Given the description of an element on the screen output the (x, y) to click on. 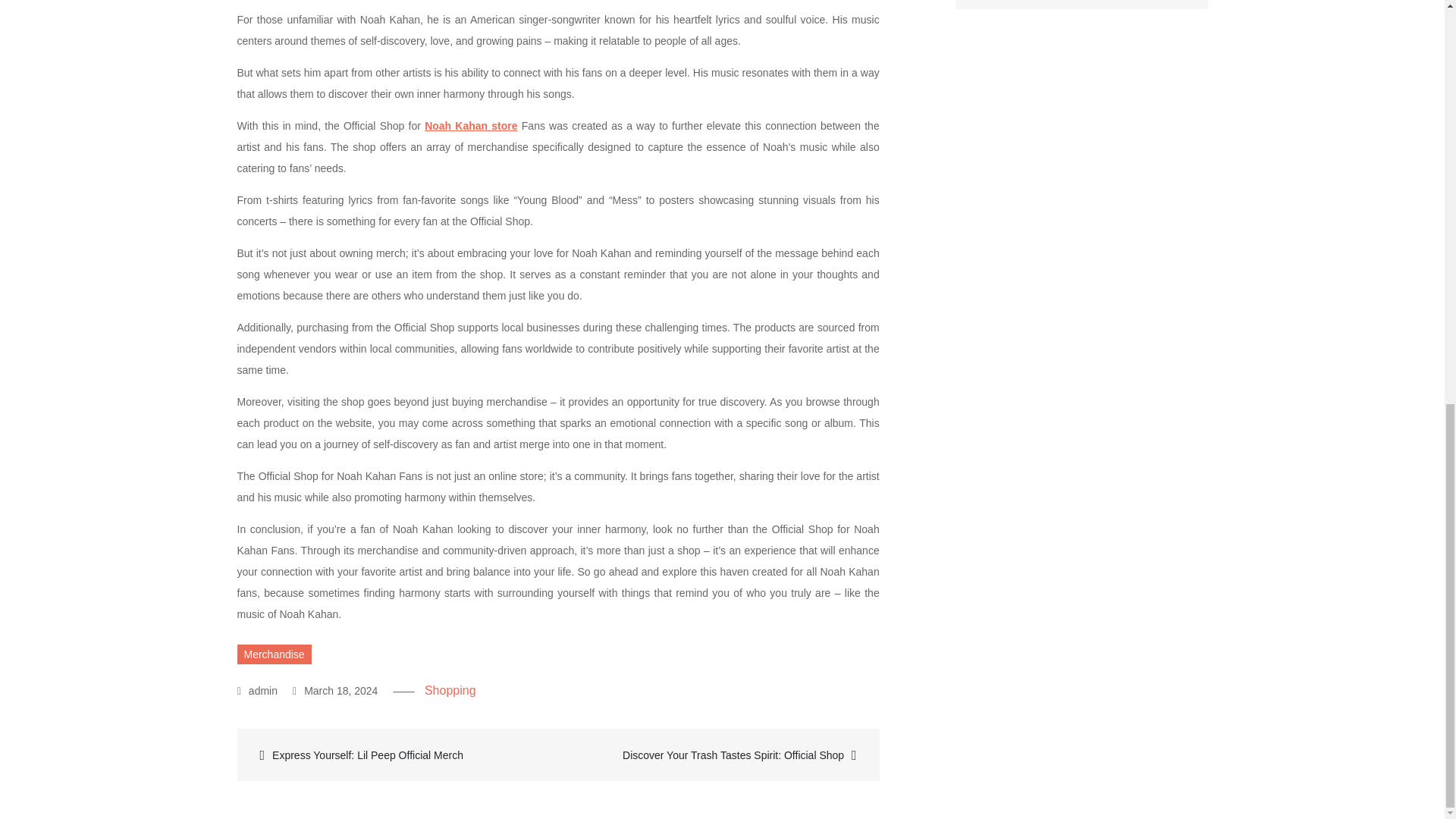
Express Yourself: Lil Peep Official Merch (398, 754)
Shopping (450, 689)
admin (257, 690)
Merchandise (273, 654)
Noah Kahan store (470, 125)
Discover Your Trash Tastes Spirit: Official Shop (716, 754)
March 18, 2024 (334, 690)
